Given the description of an element on the screen output the (x, y) to click on. 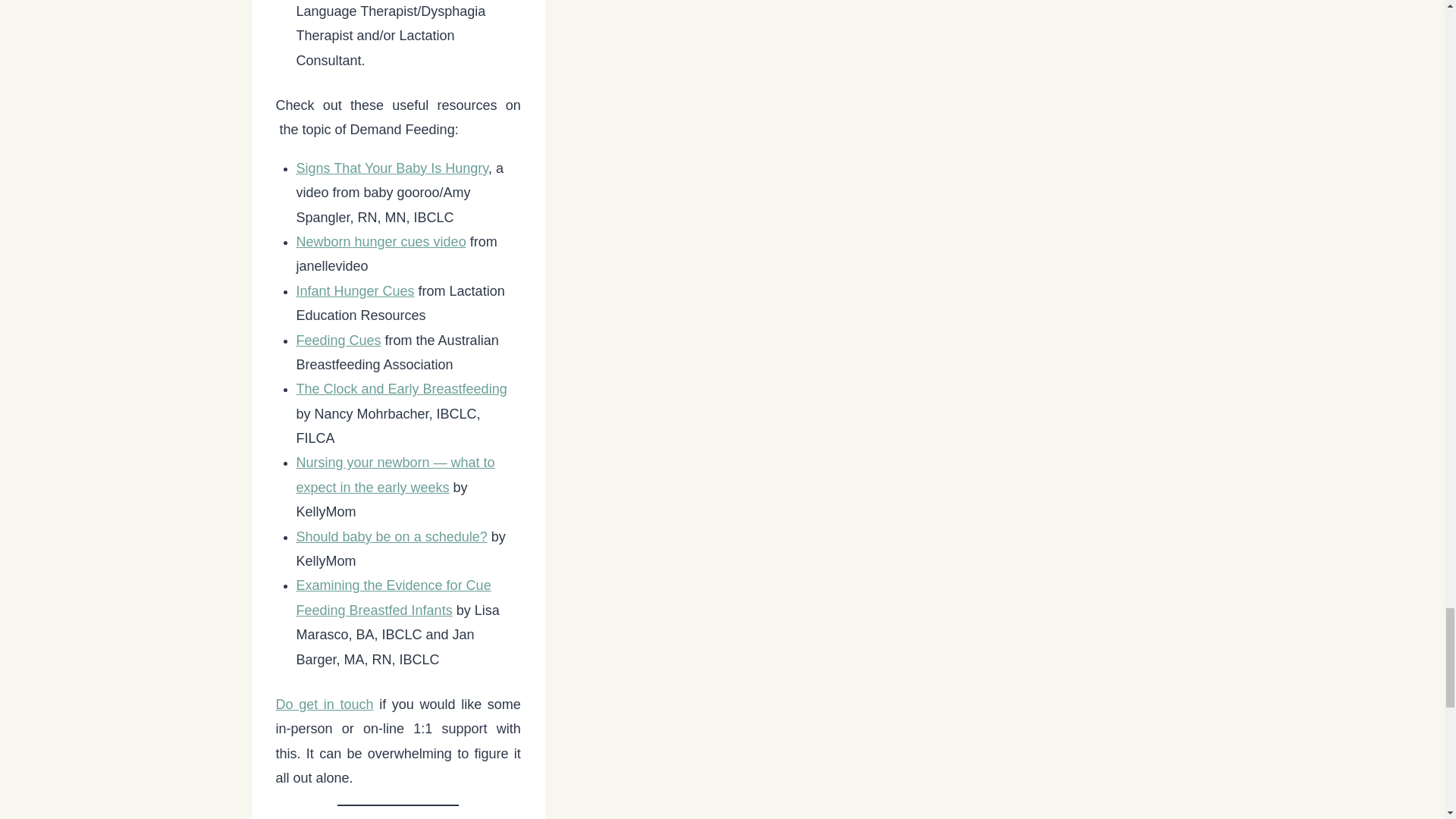
Should baby be on a schedule? (390, 536)
Signs That Your Baby Is Hungry (391, 168)
Infant Hunger Cues (354, 290)
Newborn hunger cues video (380, 241)
Feeding Cues (337, 340)
Examining the Evidence for Cue Feeding Breastfed Infants (392, 597)
Do get in touch (325, 703)
The Clock and Early Breastfeeding (400, 388)
